Given the description of an element on the screen output the (x, y) to click on. 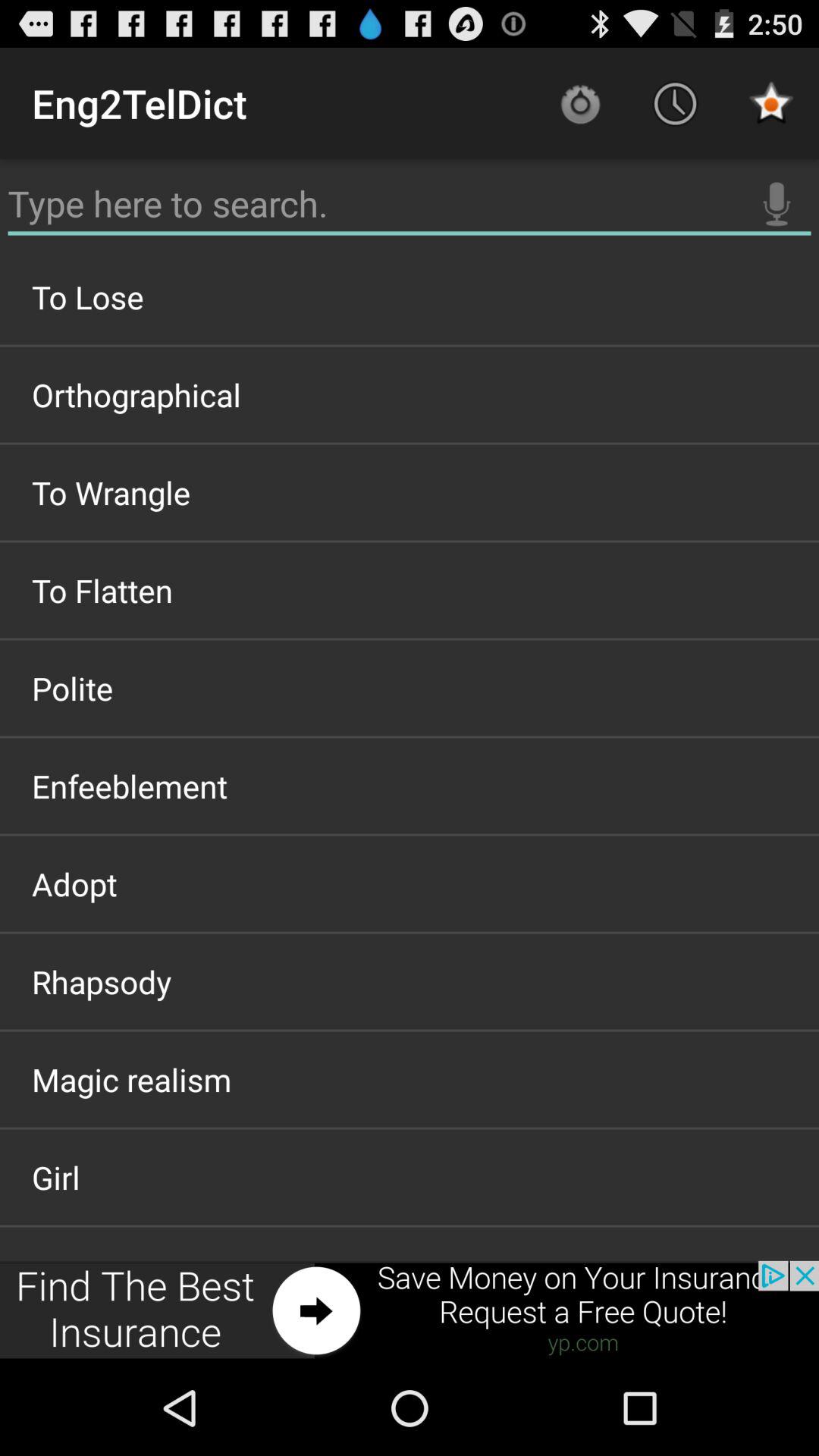
audio search (776, 204)
